Given the description of an element on the screen output the (x, y) to click on. 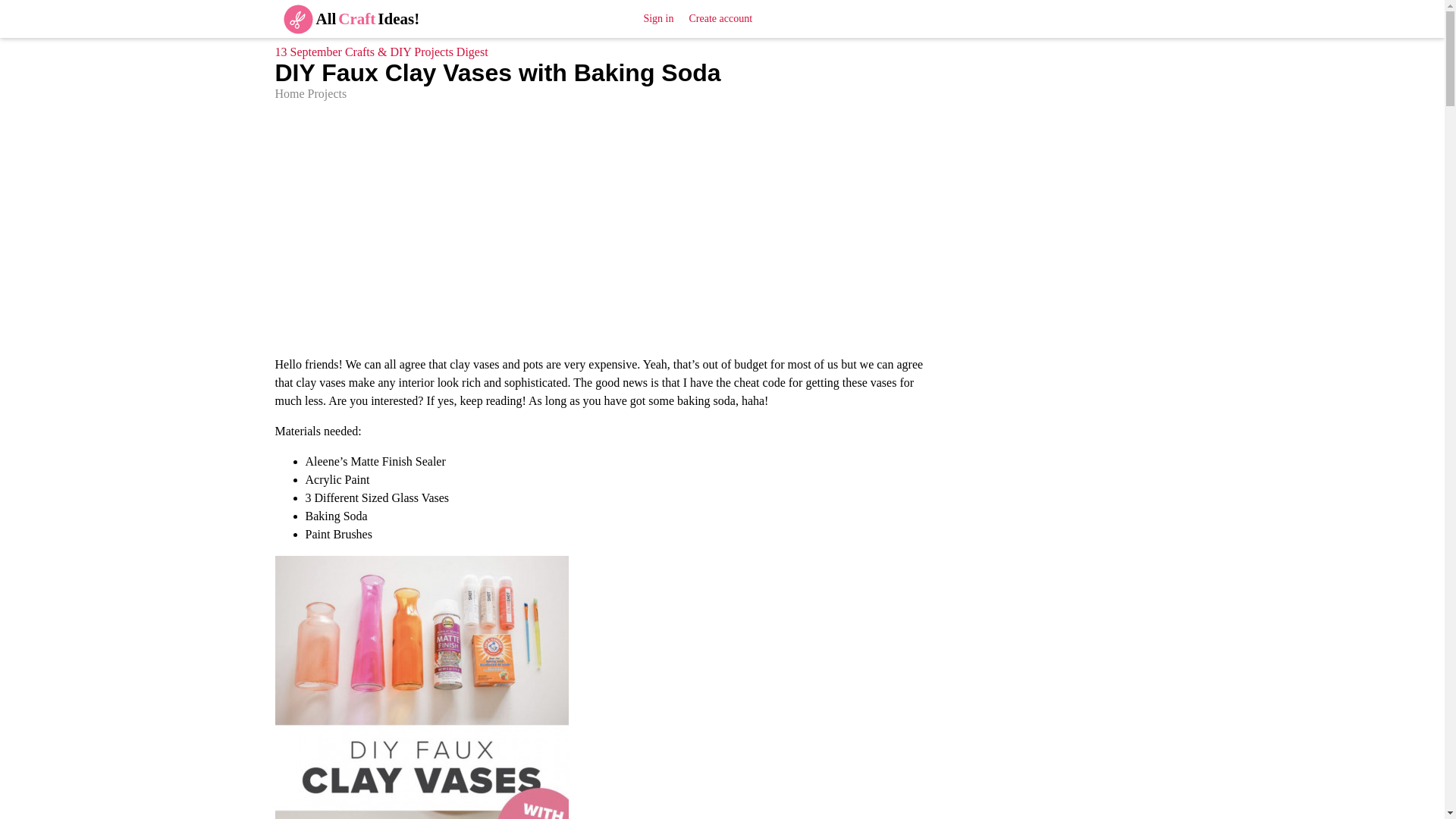
Sign in (657, 18)
Create account (720, 18)
Sign in (657, 18)
Create account (720, 18)
Home Projects (310, 92)
AllCraftIdeas! (346, 18)
